Given the description of an element on the screen output the (x, y) to click on. 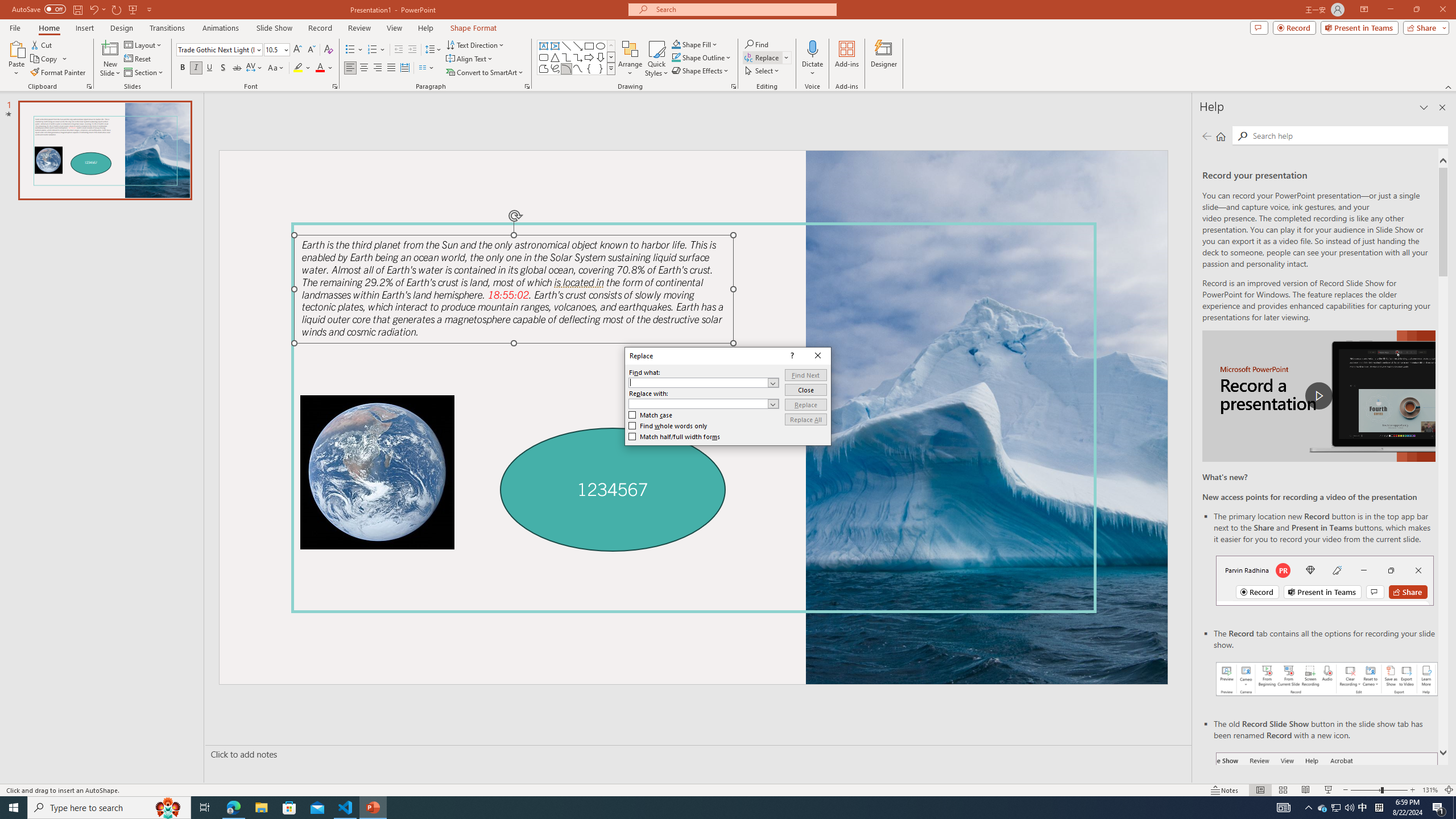
Previous page (1206, 136)
Find what (703, 382)
Zoom 131% (1430, 790)
